Given the description of an element on the screen output the (x, y) to click on. 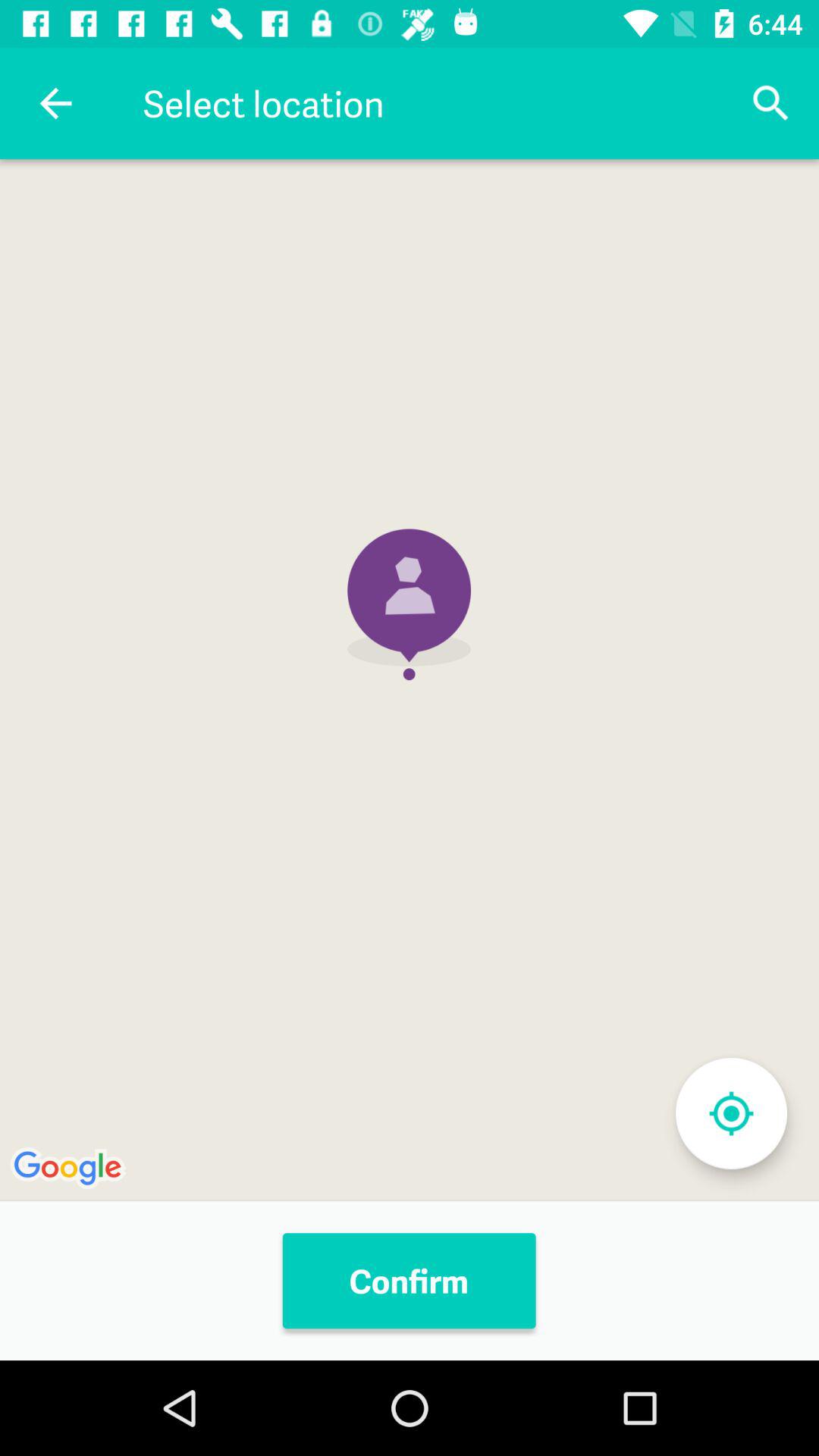
go back to previous screen (55, 103)
